Given the description of an element on the screen output the (x, y) to click on. 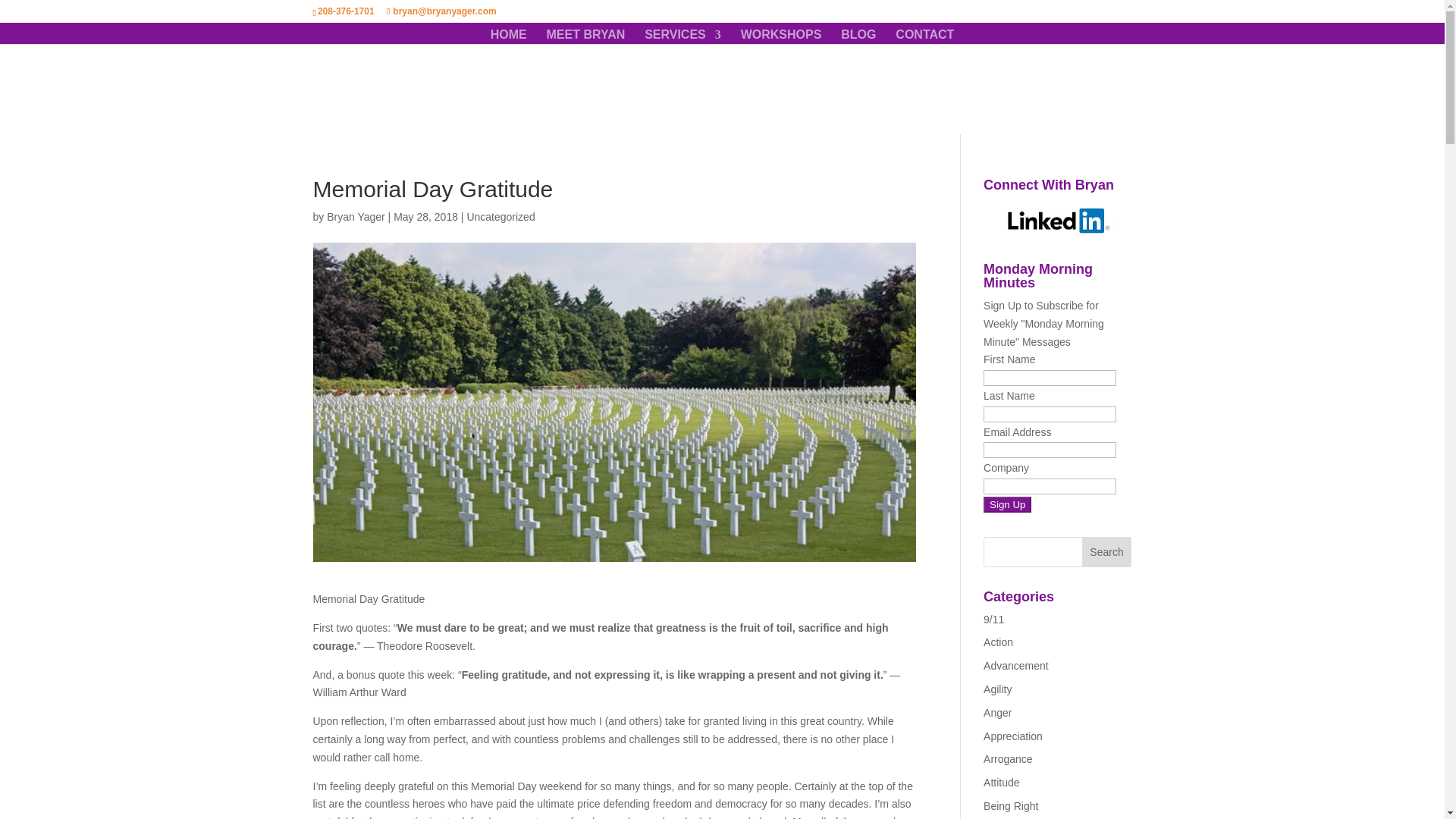
Search (1106, 552)
Anger (997, 712)
Agility (997, 689)
SERVICES (682, 36)
Being Right (1011, 806)
Arrogance (1008, 758)
Advancement (1016, 665)
WORKSHOPS (781, 36)
Appreciation (1013, 736)
HOME (508, 36)
